Given the description of an element on the screen output the (x, y) to click on. 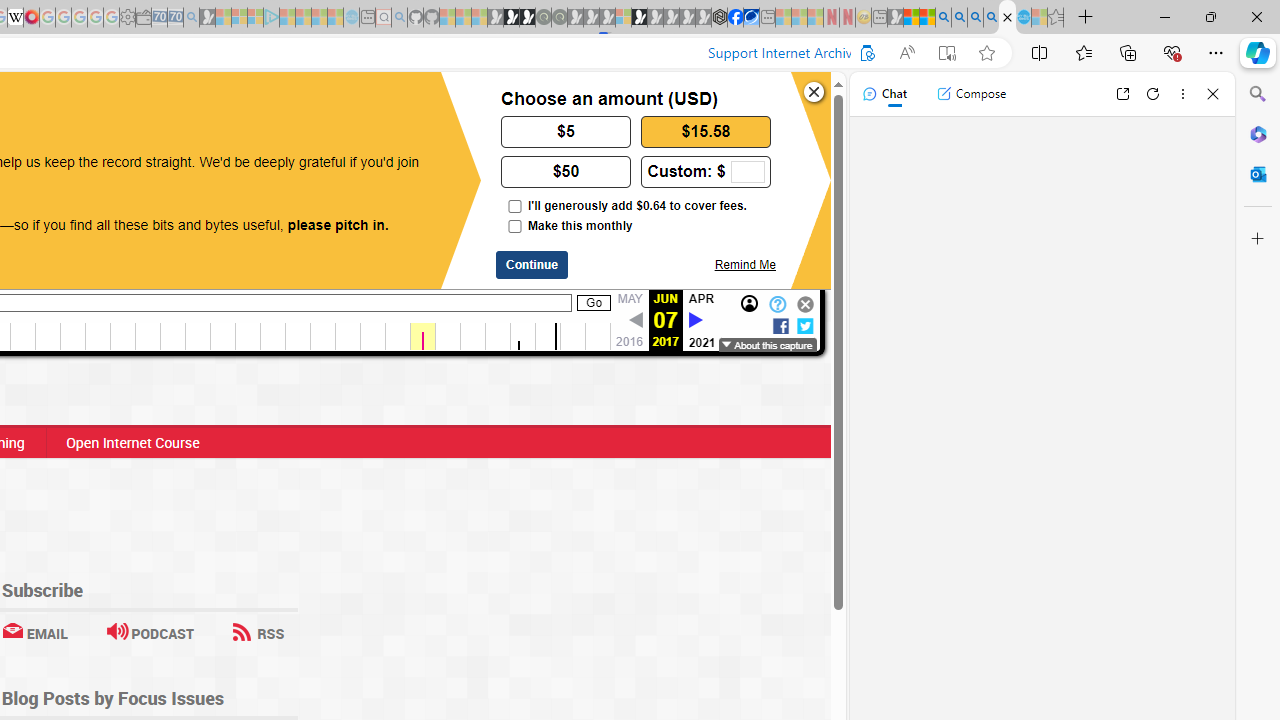
I'll generously add $0.64 to cover fees. (514, 205)
Next capture (695, 321)
Favorites - Sleeping (1055, 17)
Make this monthly (514, 225)
What a copyright troll looks like - Public Knowledge (1007, 17)
RSS (258, 632)
RSS (258, 632)
Future Focus Report 2024 - Sleeping (559, 17)
